Given the description of an element on the screen output the (x, y) to click on. 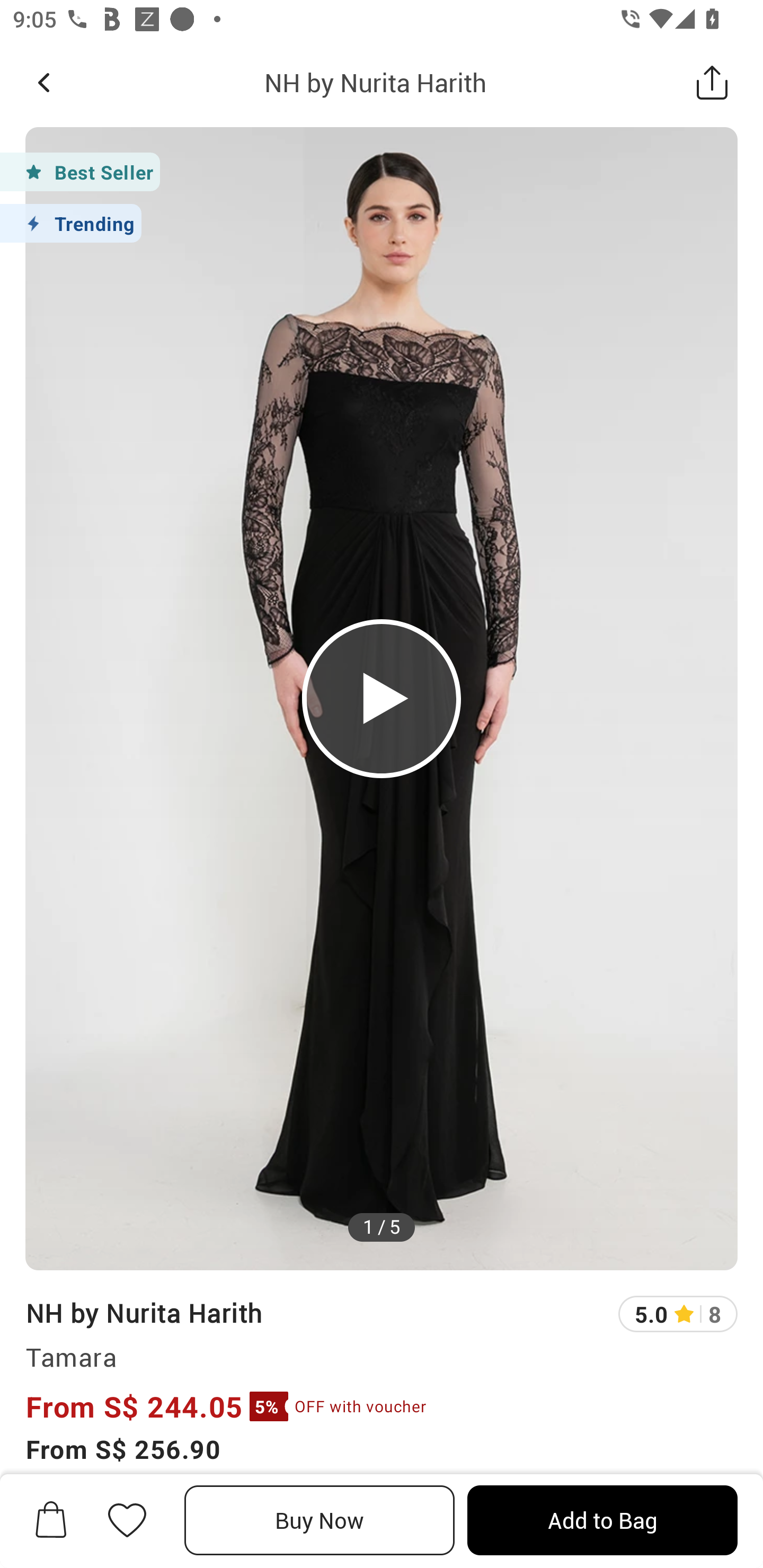
NH by Nurita Harith (375, 82)
Share this Product (711, 82)
NH by Nurita Harith (143, 1312)
5.0 8 (677, 1313)
Buy Now (319, 1519)
Add to Bag (601, 1519)
